Given the description of an element on the screen output the (x, y) to click on. 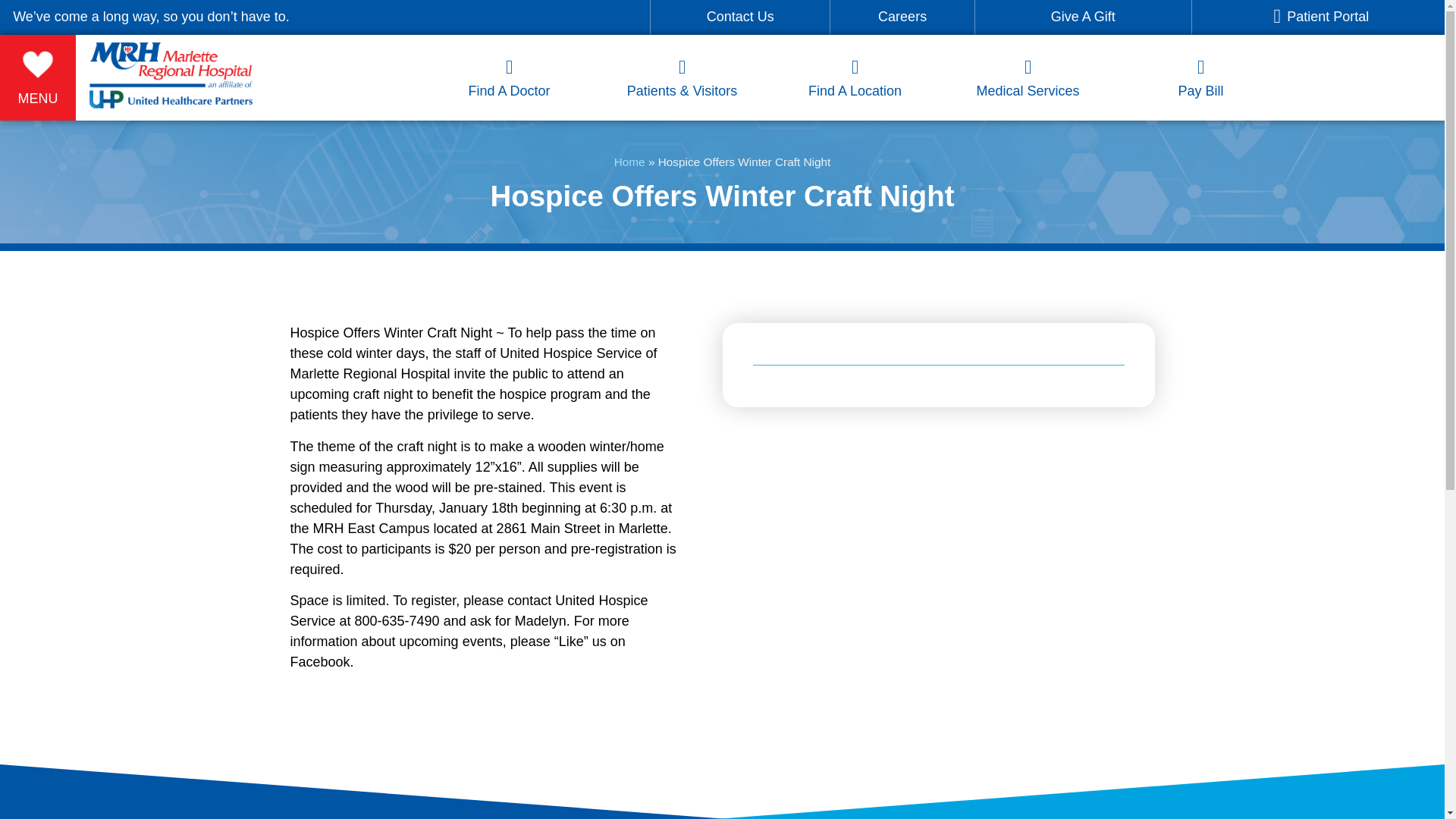
Find A Doctor (508, 90)
Medical Services (1026, 90)
Find A Location (854, 90)
Find A Doctor (508, 48)
MENU (37, 98)
Find A Location (854, 48)
Medical Services (1026, 48)
MENU (37, 55)
Contact Us (740, 16)
Careers (901, 16)
